Given the description of an element on the screen output the (x, y) to click on. 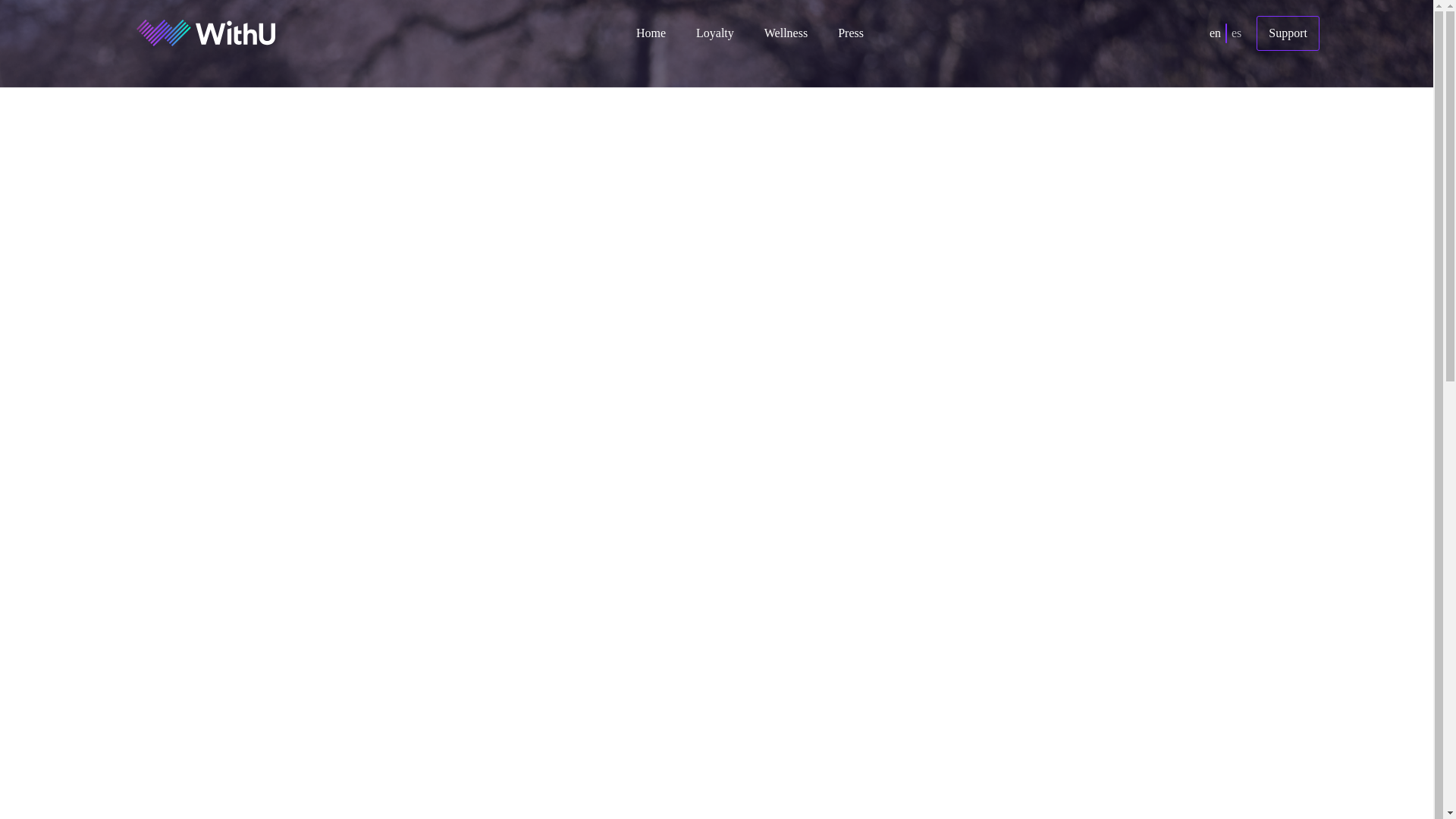
Home (650, 31)
Support (1287, 32)
Loyalty (714, 31)
Press (850, 31)
Wellness (786, 31)
